Given the description of an element on the screen output the (x, y) to click on. 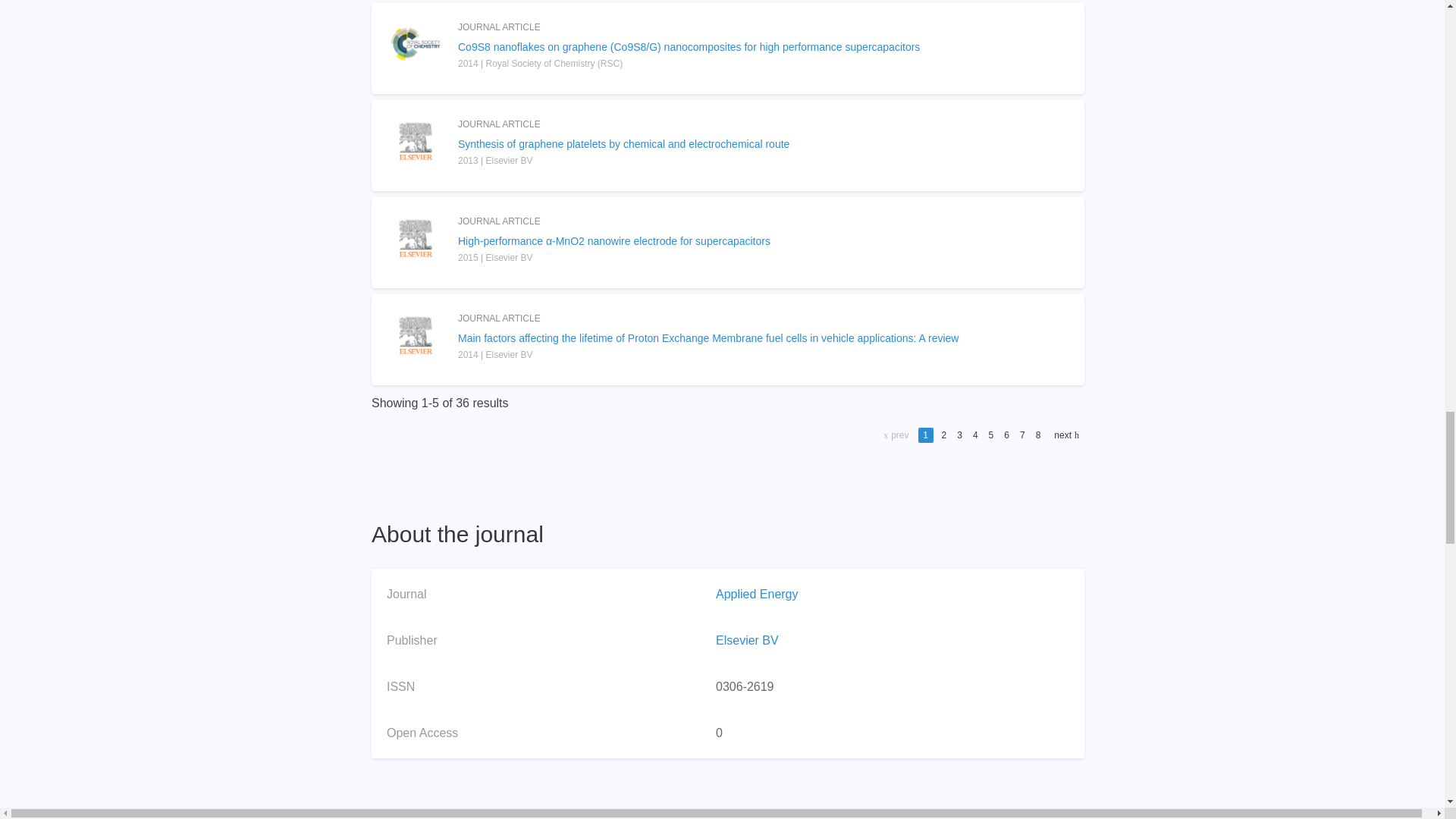
2 (944, 435)
Applied Energy (756, 594)
1 (925, 435)
8 (1038, 435)
7 (1022, 435)
6 (1006, 435)
Elsevier BV (747, 640)
Publication cover (415, 43)
3 (959, 435)
Publication cover (415, 237)
next (1064, 435)
Publication cover (415, 334)
4 (975, 435)
Publication cover (415, 140)
